Given the description of an element on the screen output the (x, y) to click on. 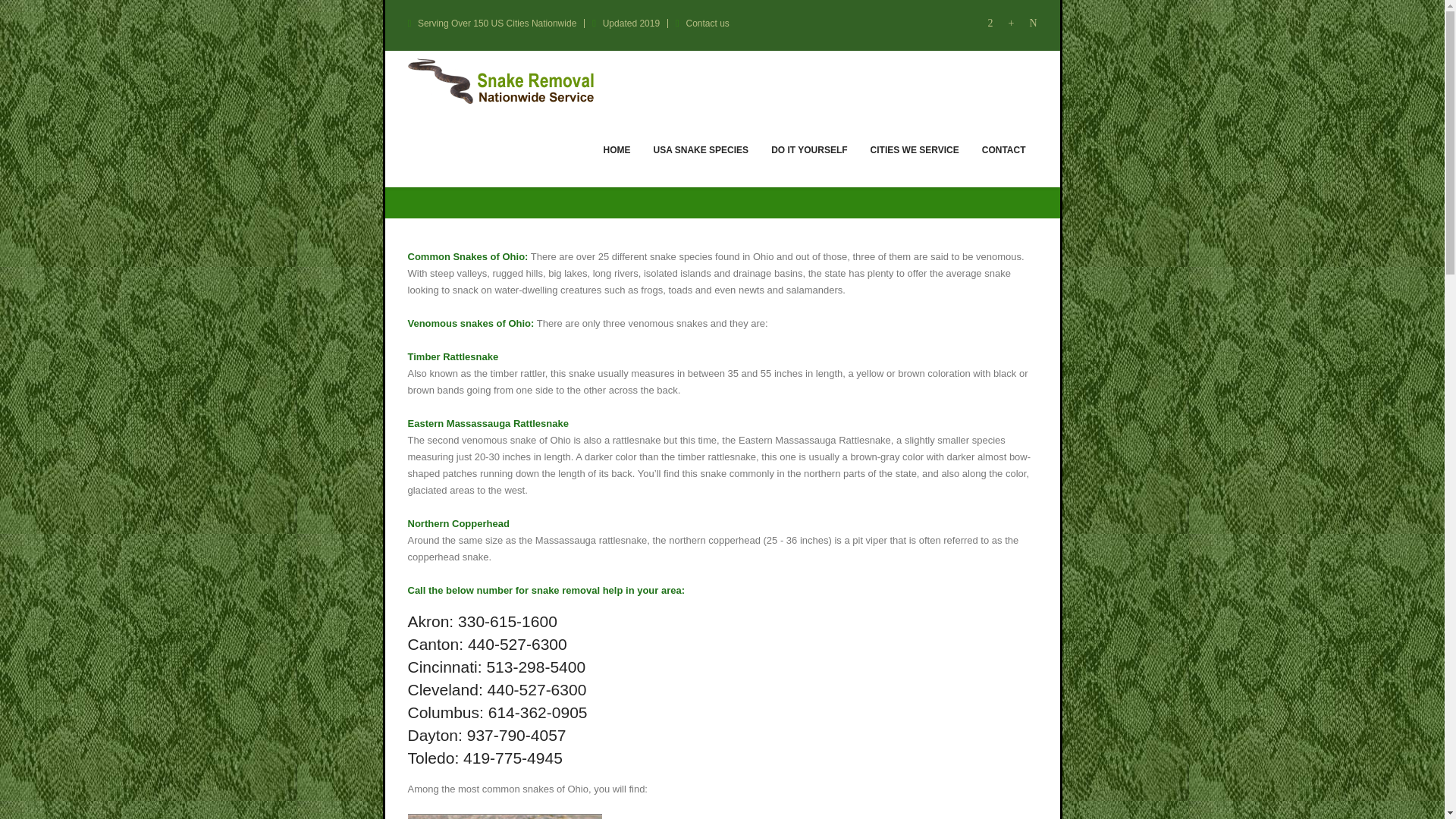
USA SNAKE SPECIES (701, 149)
DO IT YOURSELF (809, 149)
HOME (617, 149)
Contact us (708, 22)
